Given the description of an element on the screen output the (x, y) to click on. 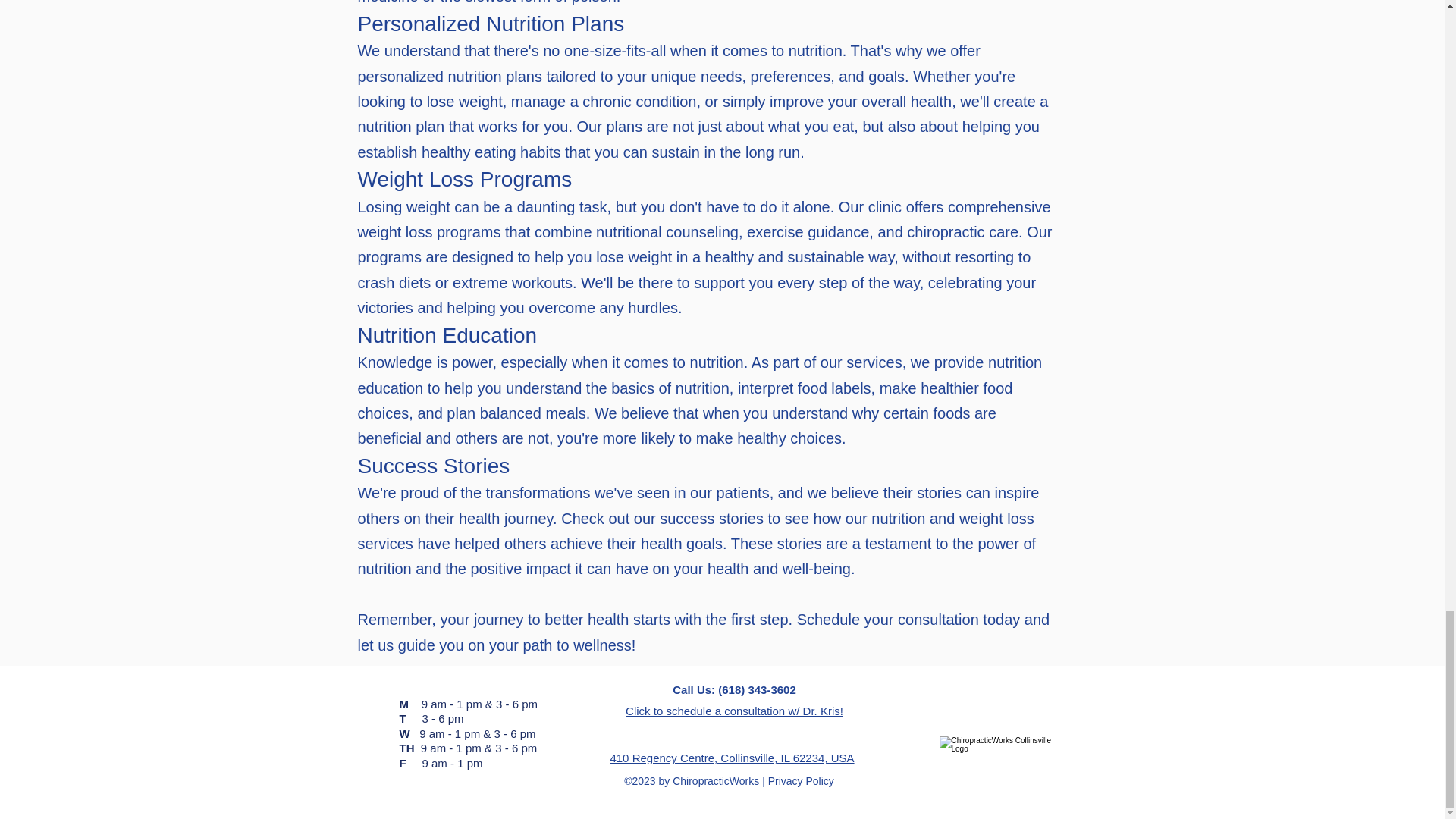
Privacy Policy (801, 780)
410 Regency Centre, Collinsville, IL 62234, USA (731, 757)
